Given the description of an element on the screen output the (x, y) to click on. 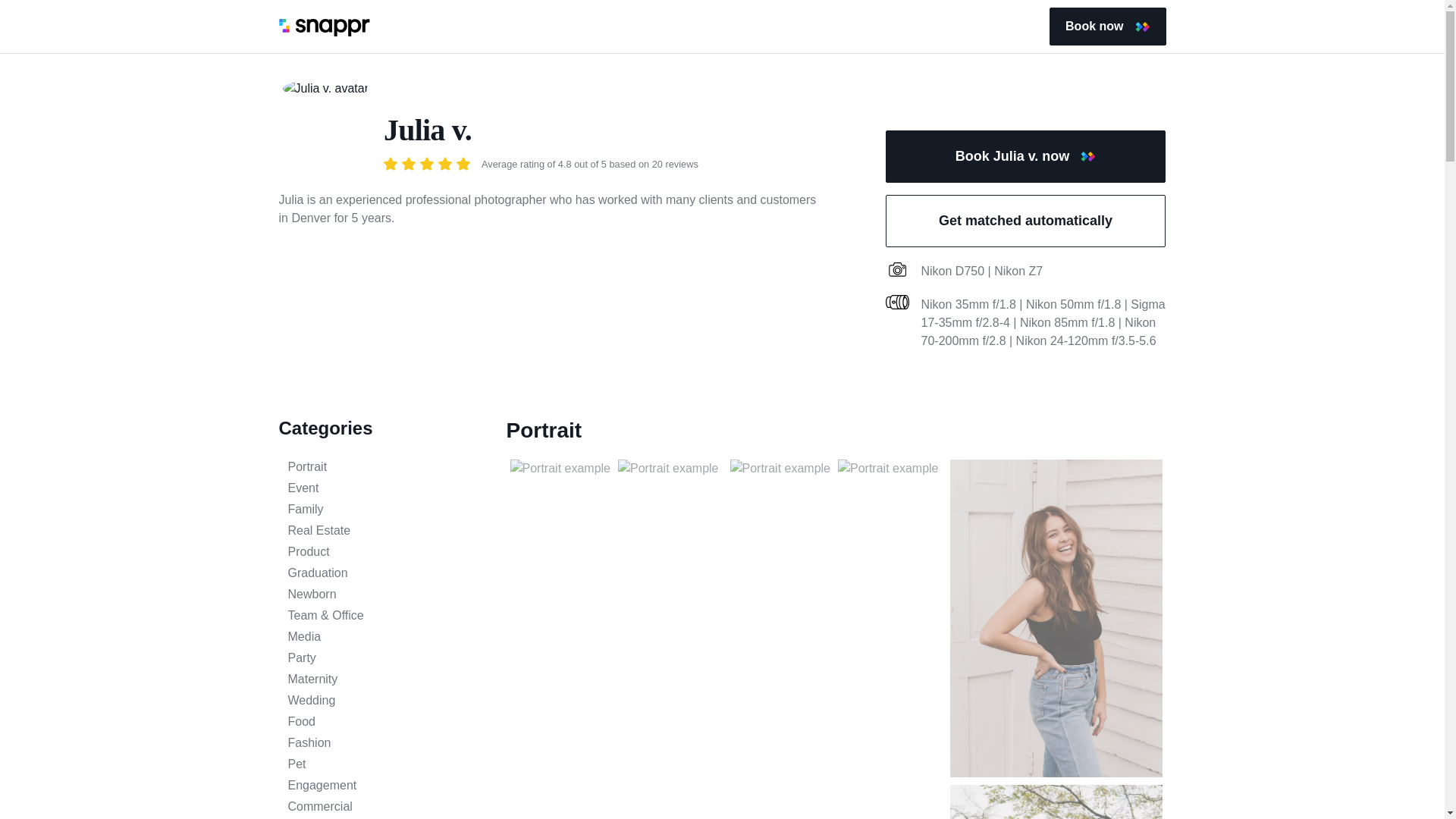
Commercial (381, 806)
Product (381, 551)
Graduation (381, 573)
Media (381, 637)
Newborn (381, 594)
Fashion (381, 742)
Get matched automatically (1025, 220)
Real Estate (381, 530)
Party (381, 658)
Portrait (381, 466)
